Given the description of an element on the screen output the (x, y) to click on. 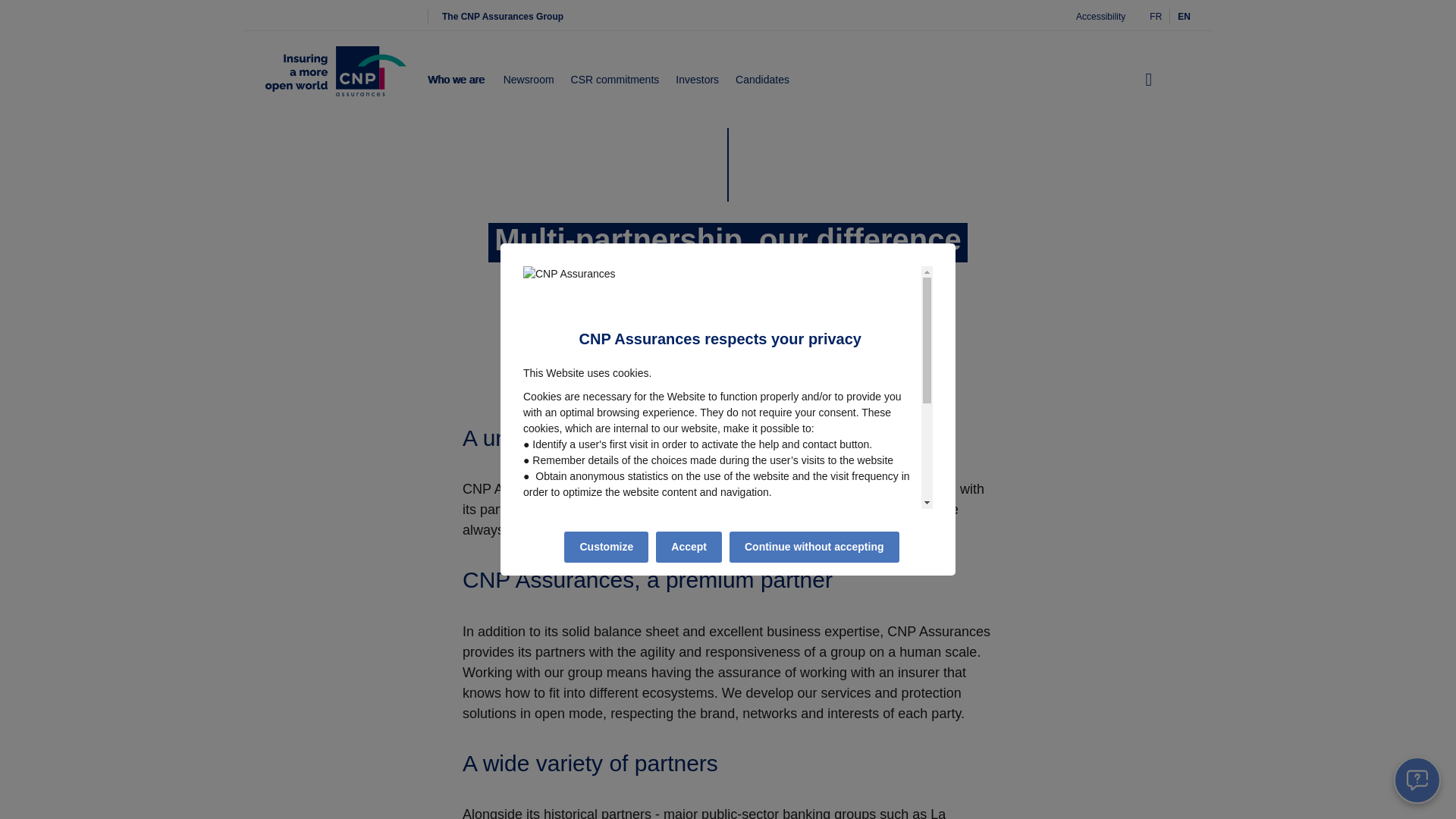
CNP Assurances - return to the homepage of the site (335, 80)
The CNP Assurances Group (502, 16)
